Given the description of an element on the screen output the (x, y) to click on. 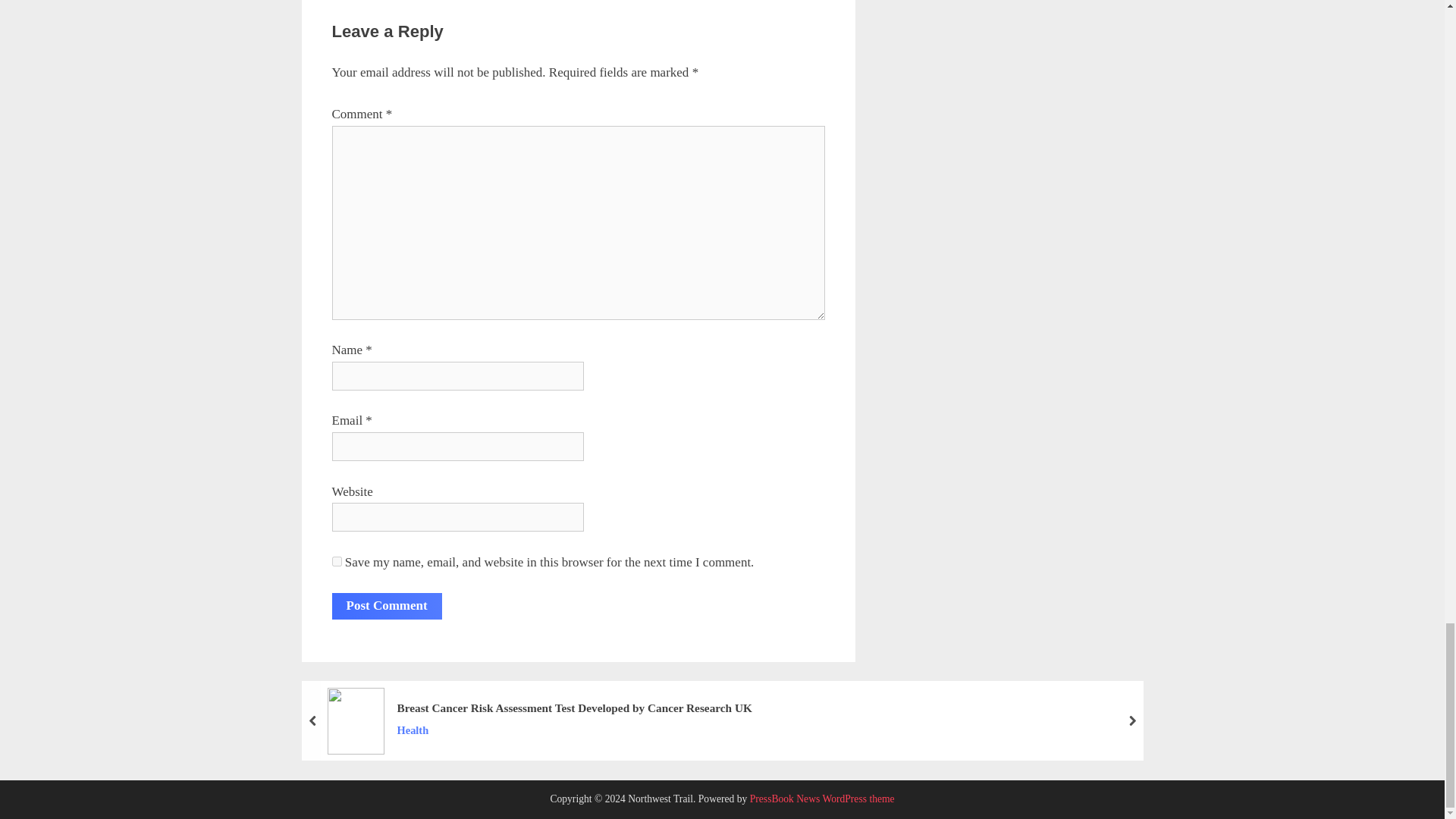
Post Comment (386, 605)
yes (336, 561)
